Given the description of an element on the screen output the (x, y) to click on. 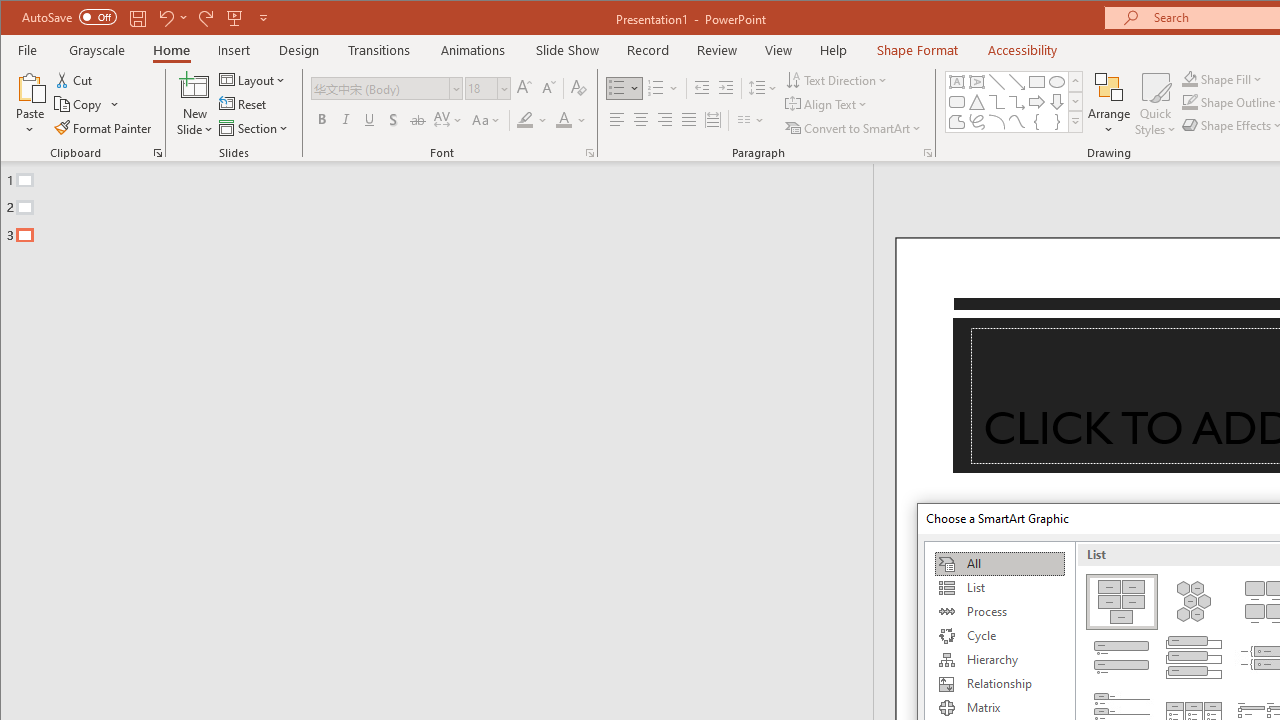
Line Arrow (1016, 82)
Bullets (616, 88)
Isosceles Triangle (976, 102)
Row up (1074, 81)
Shape Fill (1222, 78)
Text Highlight Color (532, 119)
Font (380, 88)
Accessibility (1023, 50)
Increase Indent (726, 88)
Class: NetUIImage (1076, 121)
Center (640, 119)
New Slide (195, 86)
Paste (29, 104)
